Given the description of an element on the screen output the (x, y) to click on. 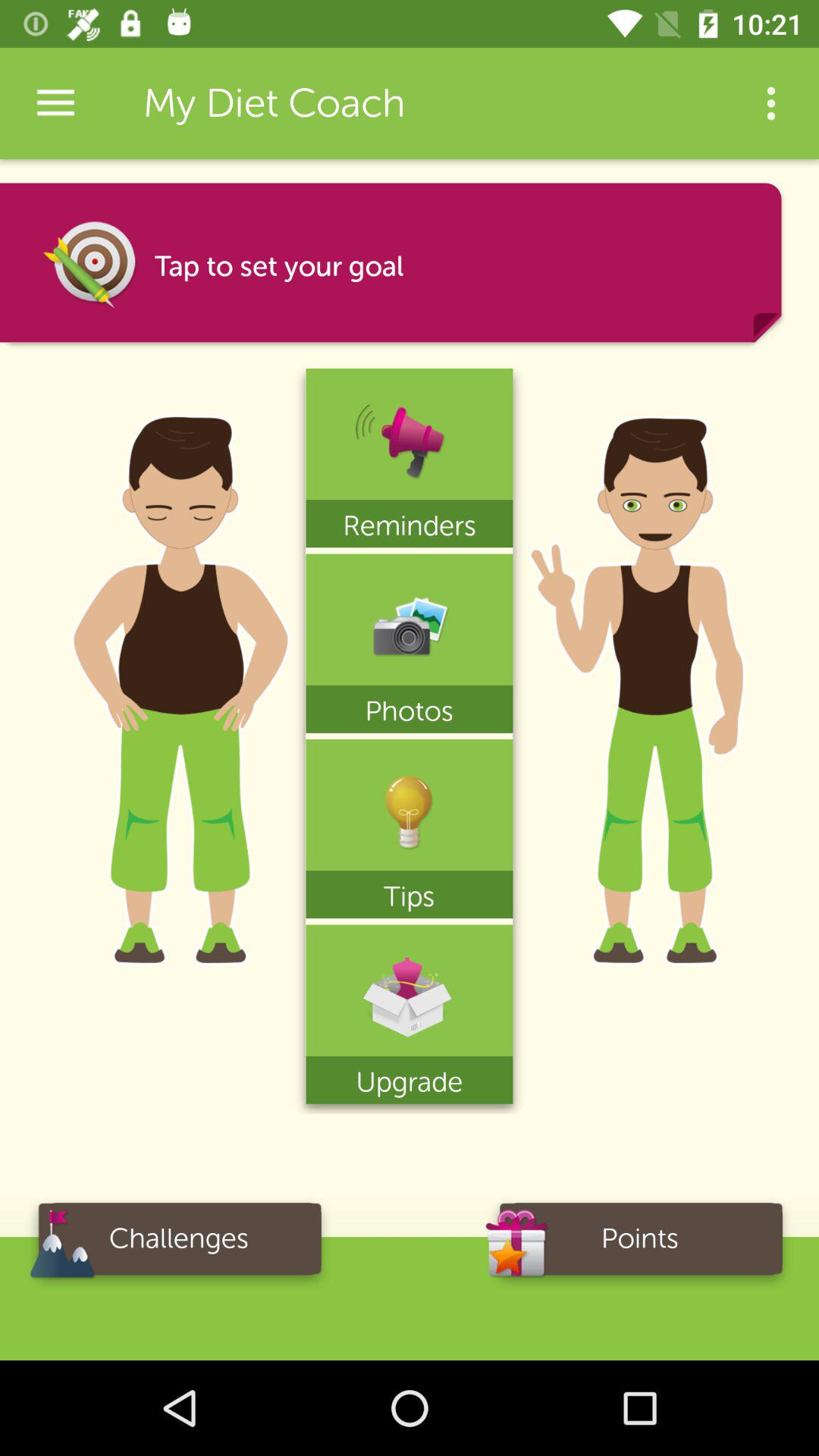
select item next to the challenges icon (639, 1243)
